Given the description of an element on the screen output the (x, y) to click on. 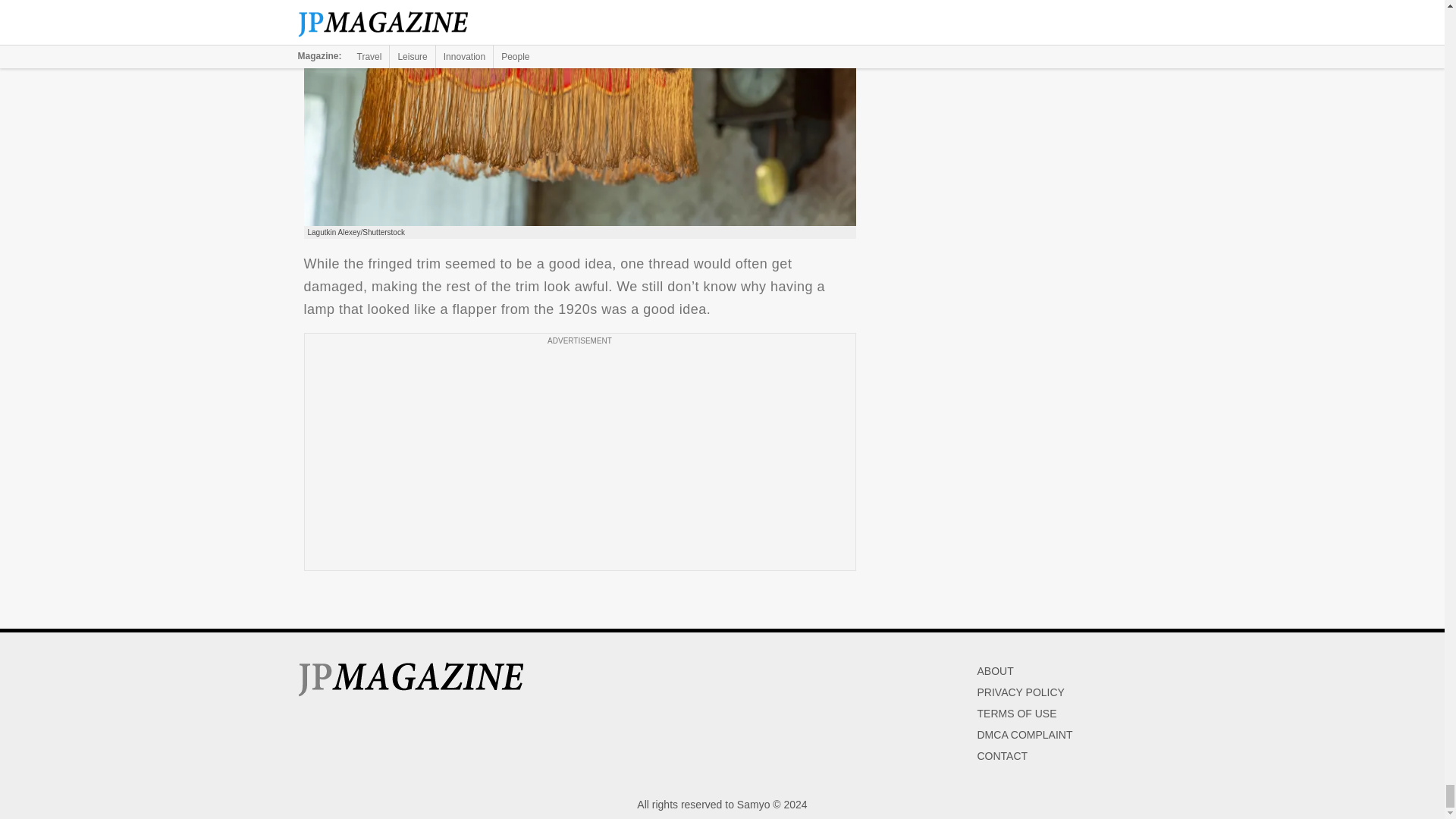
DMCA COMPLAINT (1023, 734)
CONTACT (1001, 756)
PRIVACY POLICY (1020, 692)
TERMS OF USE (1016, 713)
ABOUT (994, 671)
